Given the description of an element on the screen output the (x, y) to click on. 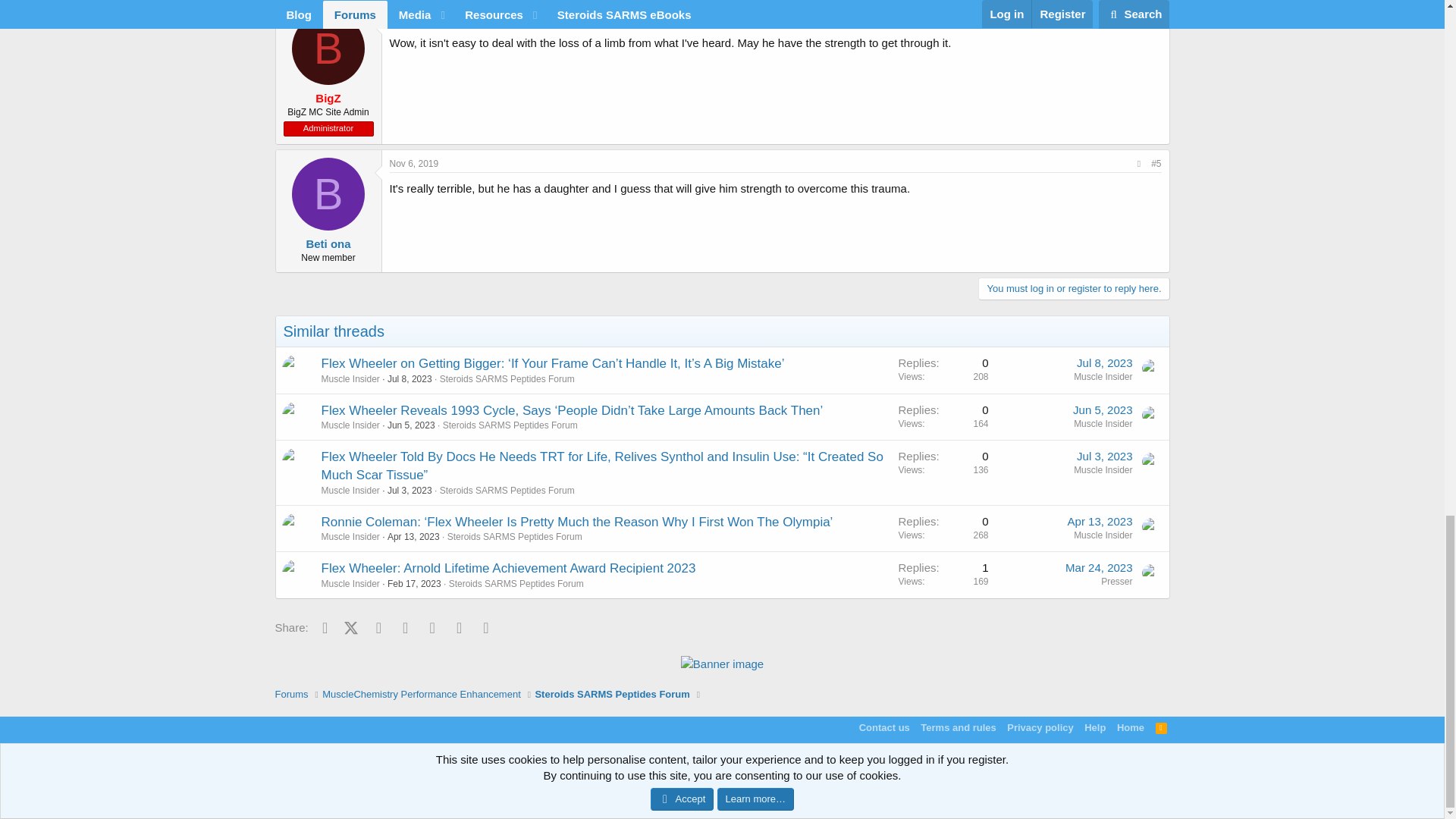
First message reaction score: 0 (942, 370)
Oct 29, 2019 at 10:19 AM (416, 18)
Jun 5, 2023 at 10:39 AM (411, 425)
Jul 8, 2023 at 2:08 PM (1104, 362)
Nov 6, 2019 at 8:58 AM (414, 163)
Jul 8, 2023 at 2:08 PM (409, 378)
First message reaction score: 0 (942, 416)
